Given the description of an element on the screen output the (x, y) to click on. 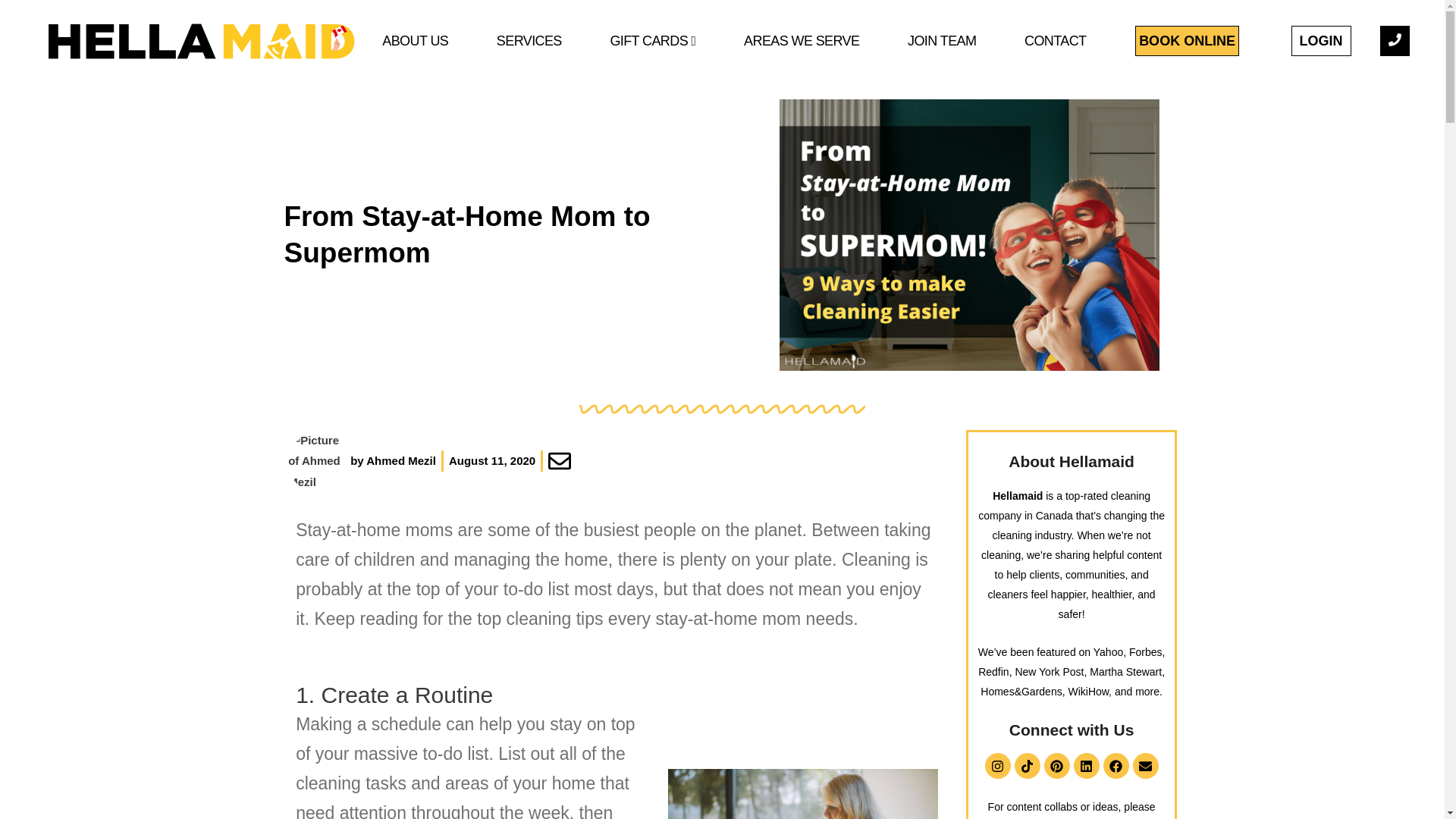
CONTACT (1054, 40)
AREAS WE SERVE (801, 40)
ABOUT US (414, 40)
JOIN TEAM (941, 40)
SERVICES (528, 40)
